Given the description of an element on the screen output the (x, y) to click on. 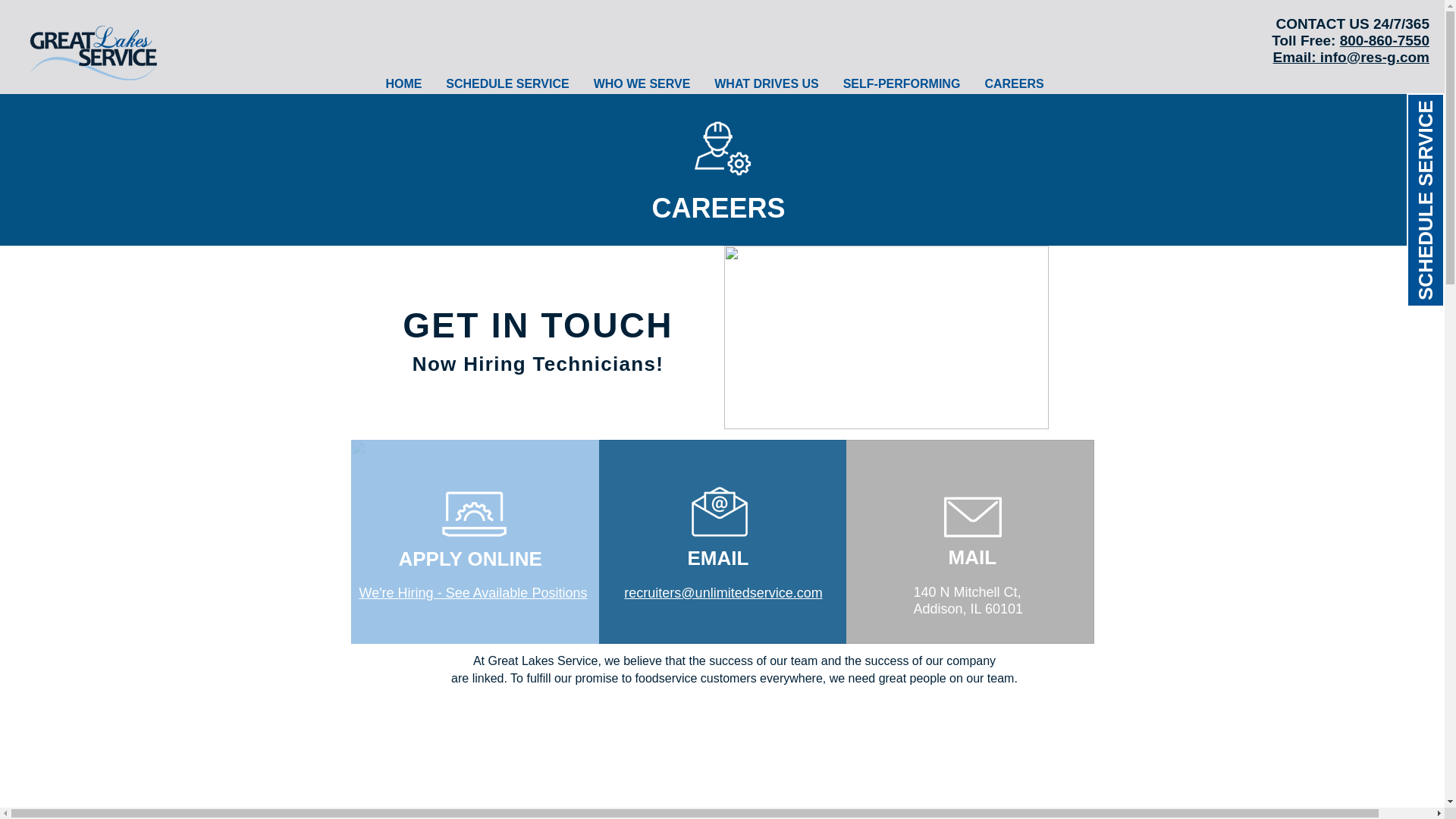
140 N Mitchell Ct, (966, 591)
WHAT DRIVES US (765, 83)
CAREERS (1013, 83)
Toll Free: (1305, 40)
SCHEDULE SERVICE (506, 83)
800-860-7550 (1384, 40)
SELF-PERFORMING (901, 83)
WHO WE SERVE (640, 83)
HOME (402, 83)
We're Hiring - See Available Positions (473, 592)
